Given the description of an element on the screen output the (x, y) to click on. 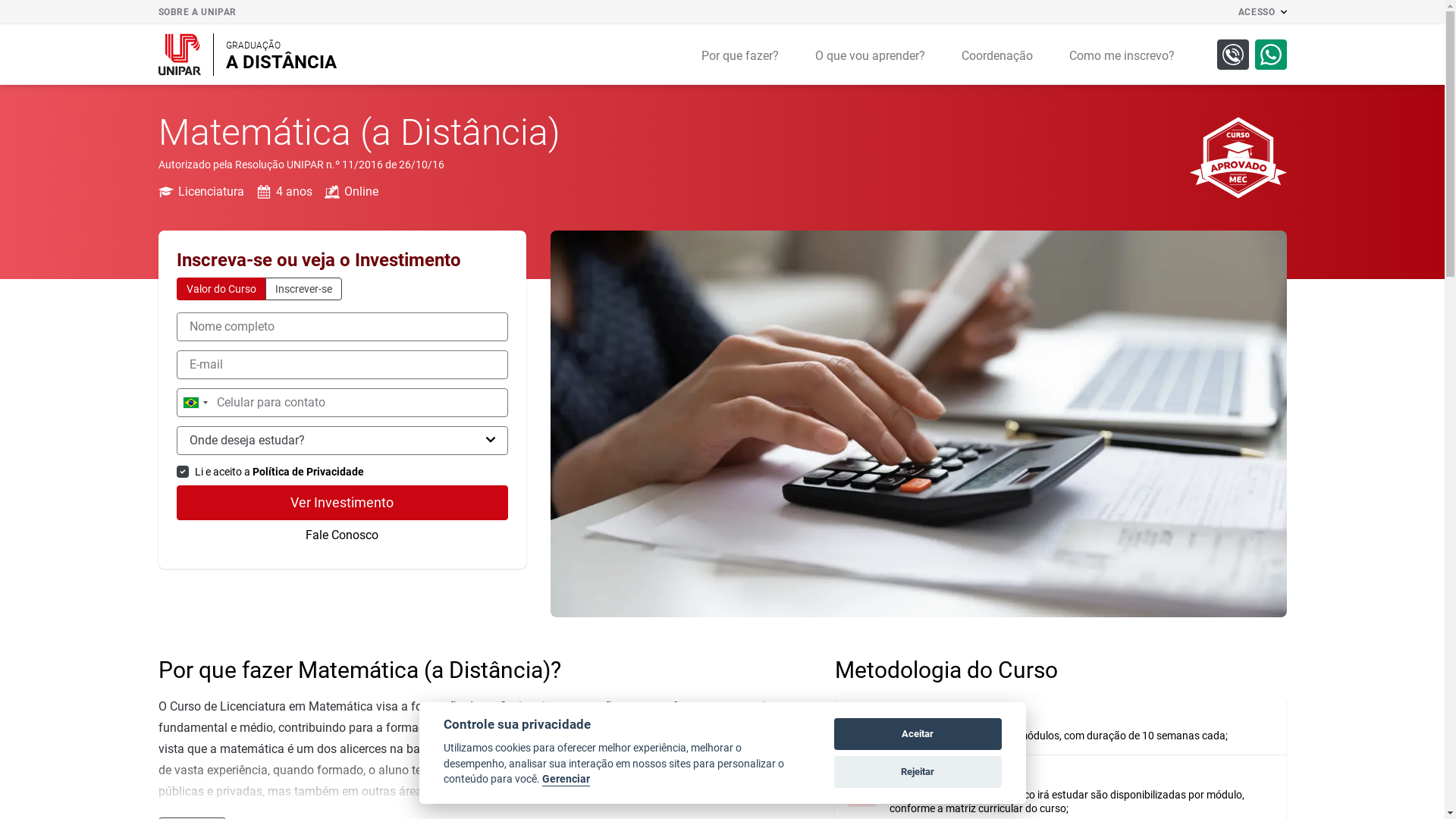
Fale Conosco Element type: text (341, 535)
Brazil (Brasil): +55 Element type: hover (194, 402)
Gerenciar Element type: text (565, 778)
ACESSO Element type: text (1262, 12)
Valor do Curso Element type: text (219, 288)
Como me inscrevo? Element type: text (1121, 54)
Aceitar Element type: text (917, 733)
O que vou aprender? Element type: text (869, 54)
Inscrever-se Element type: text (303, 288)
Rejeitar Element type: text (917, 771)
SOBRE A UNIPAR Element type: text (205, 12)
Por que fazer? Element type: text (739, 54)
Ver Investimento Element type: text (341, 502)
Chama no whats Element type: hover (1270, 54)
